Given the description of an element on the screen output the (x, y) to click on. 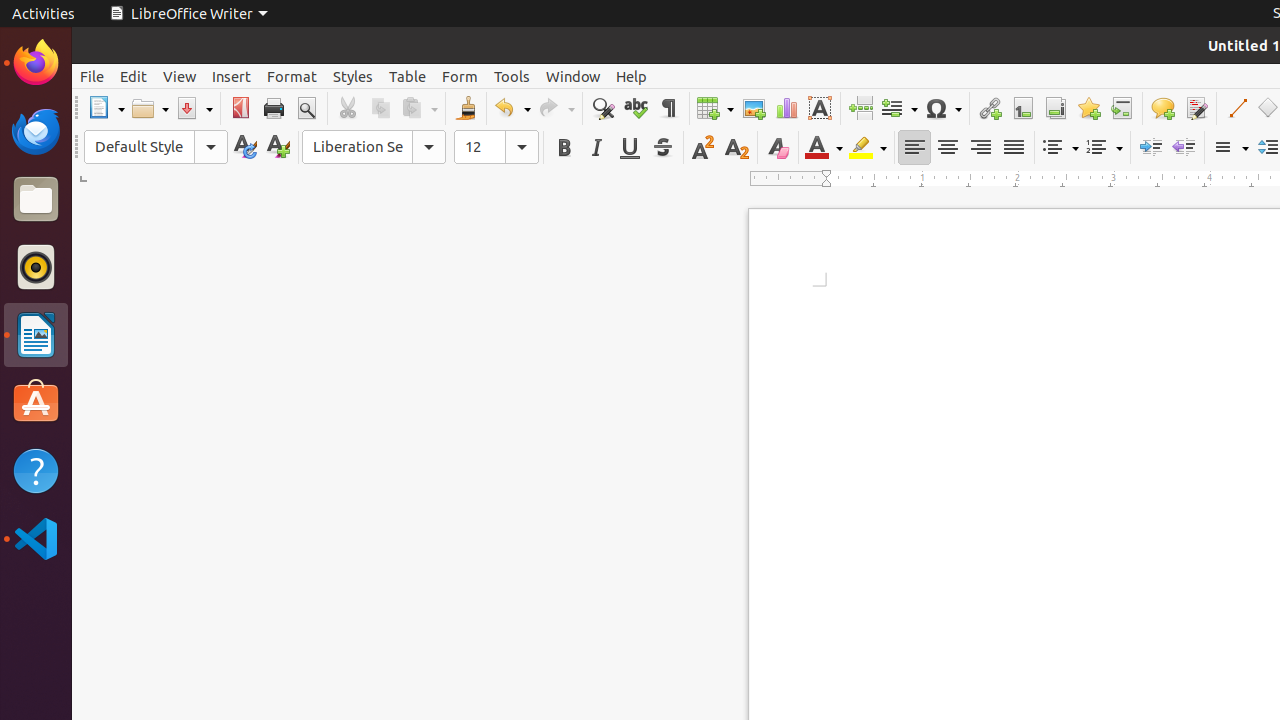
Field Element type: push-button (899, 108)
Files Element type: push-button (36, 199)
Bookmark Element type: push-button (1088, 108)
Formatting Marks Element type: toggle-button (668, 108)
Copy Element type: push-button (380, 108)
